Given the description of an element on the screen output the (x, y) to click on. 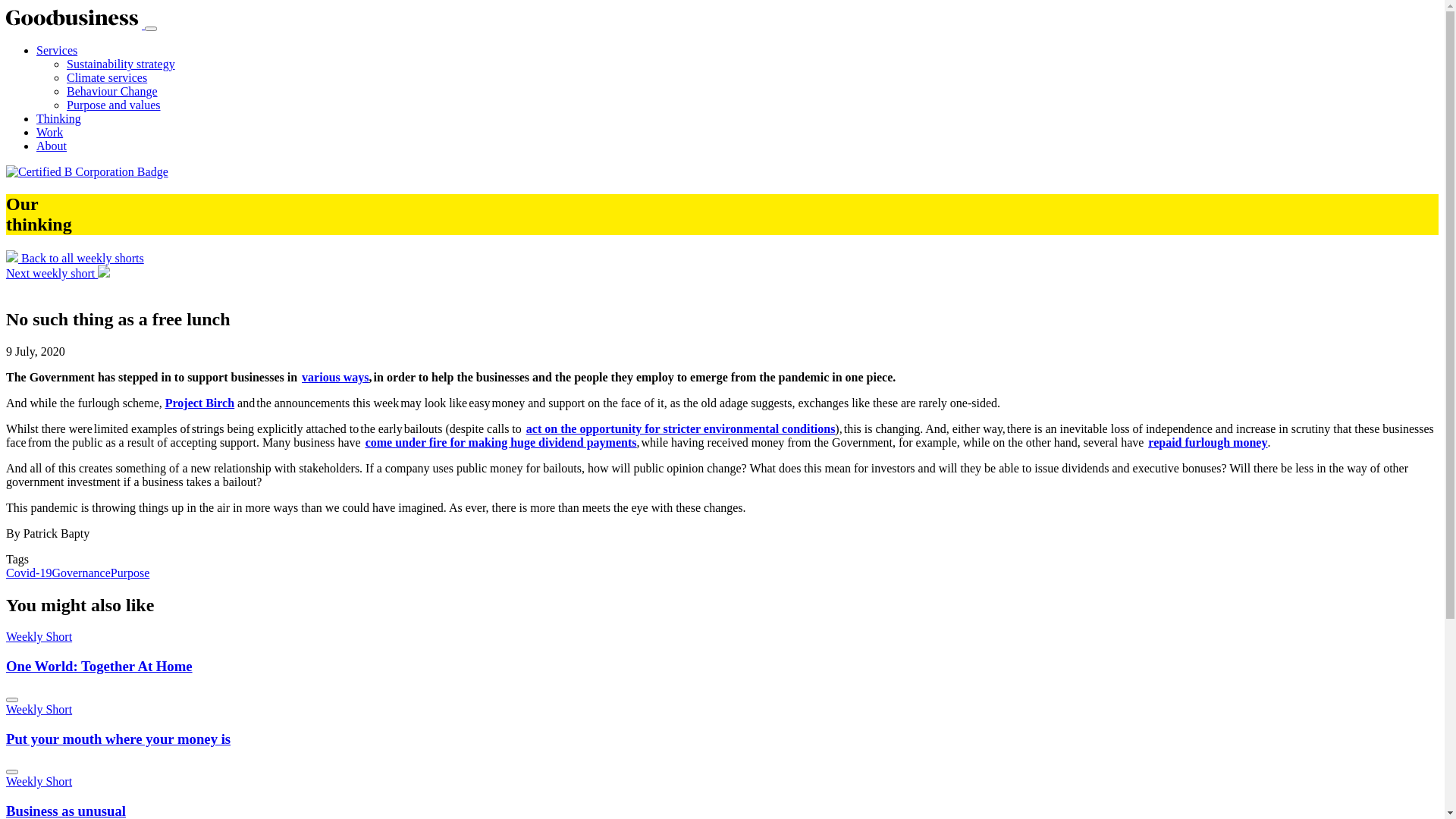
Covid-19 Element type: text (28, 572)
various ways Element type: text (334, 376)
Purpose and values Element type: text (113, 104)
About Element type: text (51, 145)
come under fire for making huge dividend payments Element type: text (501, 442)
Governance Element type: text (80, 572)
Services Element type: text (56, 49)
Climate services Element type: text (106, 77)
Thinking Element type: text (58, 118)
Behaviour Change Element type: text (111, 90)
Project Birch Element type: text (199, 402)
Next weekly short Element type: text (57, 272)
Sustainability strategy Element type: text (120, 63)
Weekly Short
One World: Together At Home Element type: text (722, 666)
Weekly Short
Put your mouth where your money is Element type: text (722, 738)
Purpose Element type: text (130, 572)
Work Element type: text (49, 131)
GoodBusiness GoodBusiness Logo Element type: text (75, 24)
repaid furlough money Element type: text (1207, 442)
act on the opportunity for stricter environmental conditions Element type: text (680, 428)
Back to all weekly shorts Element type: text (75, 257)
